Given the description of an element on the screen output the (x, y) to click on. 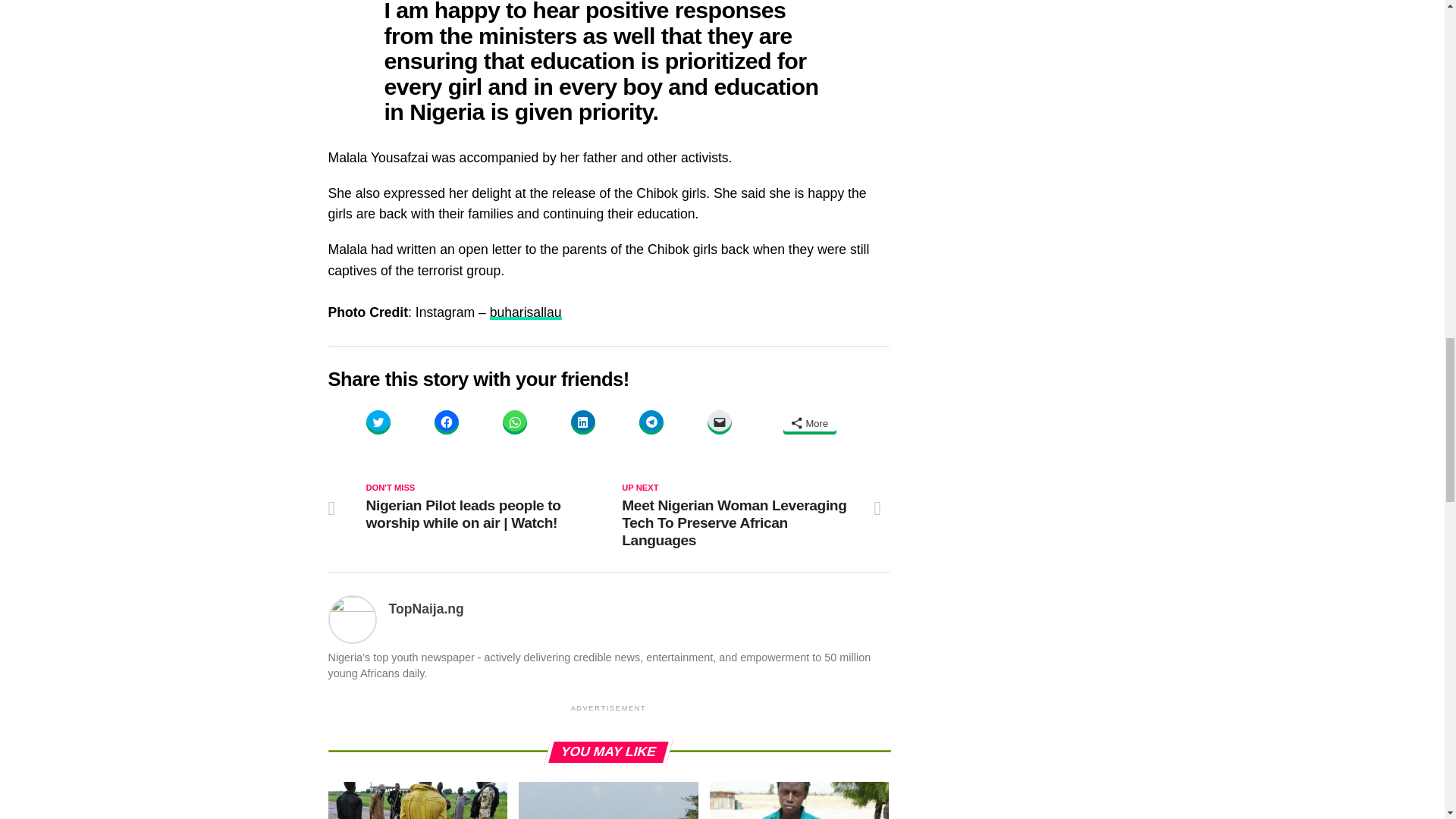
Click to share on Facebook (445, 422)
Click to share on LinkedIn (582, 422)
Click to share on Telegram (650, 422)
Click to share on WhatsApp (513, 422)
buharisallau (525, 312)
Click to email a link to a friend (718, 422)
Click to share on Twitter (377, 422)
